Given the description of an element on the screen output the (x, y) to click on. 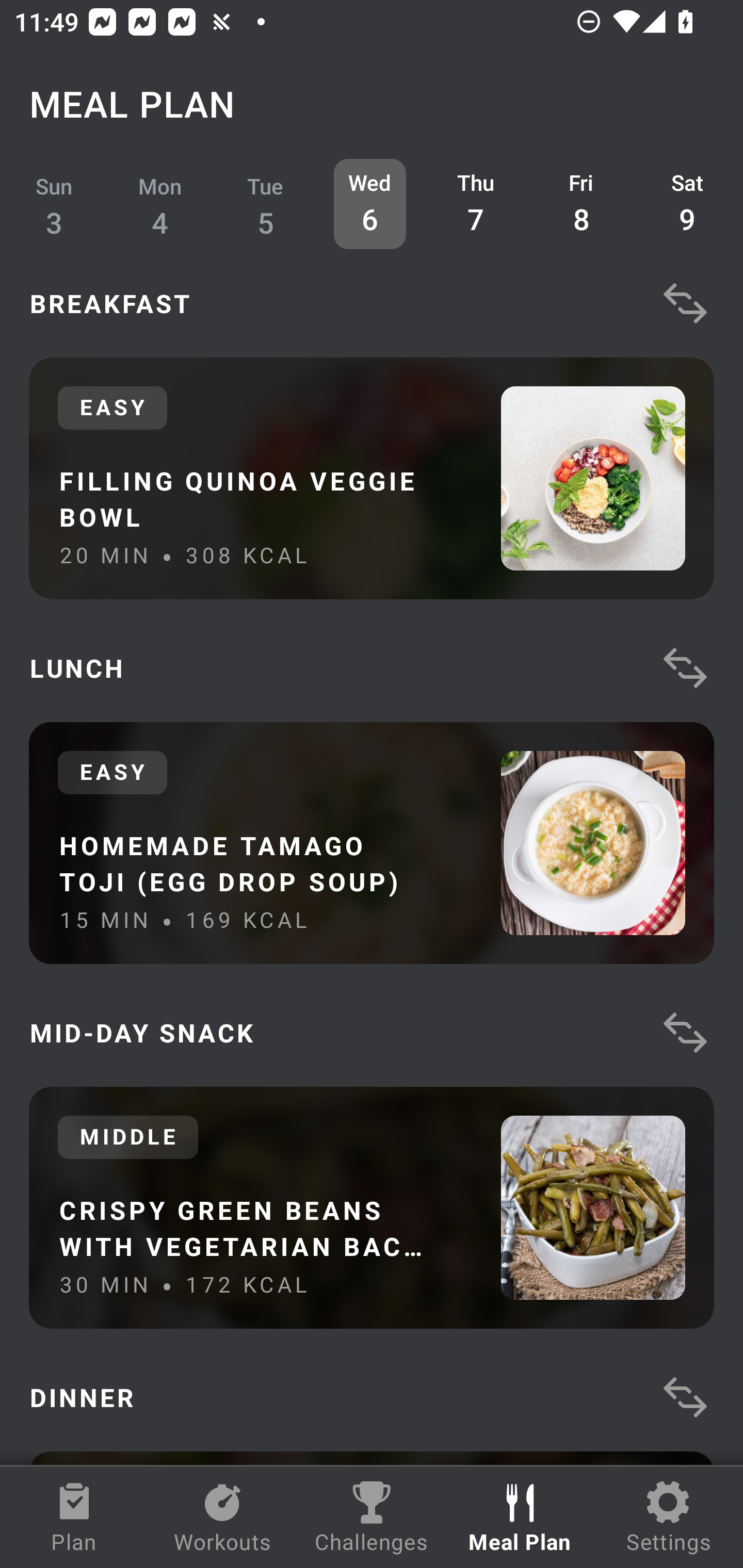
Wed 6 (369, 203)
Thu 7 (475, 203)
Fri 8 (581, 203)
Sat 9 (687, 203)
EASY FILLING QUINOA VEGGIE BOWL 20 MIN • 308 KCAL (371, 477)
 Plan  (74, 1517)
 Workouts  (222, 1517)
 Challenges  (371, 1517)
 Settings  (668, 1517)
